Given the description of an element on the screen output the (x, y) to click on. 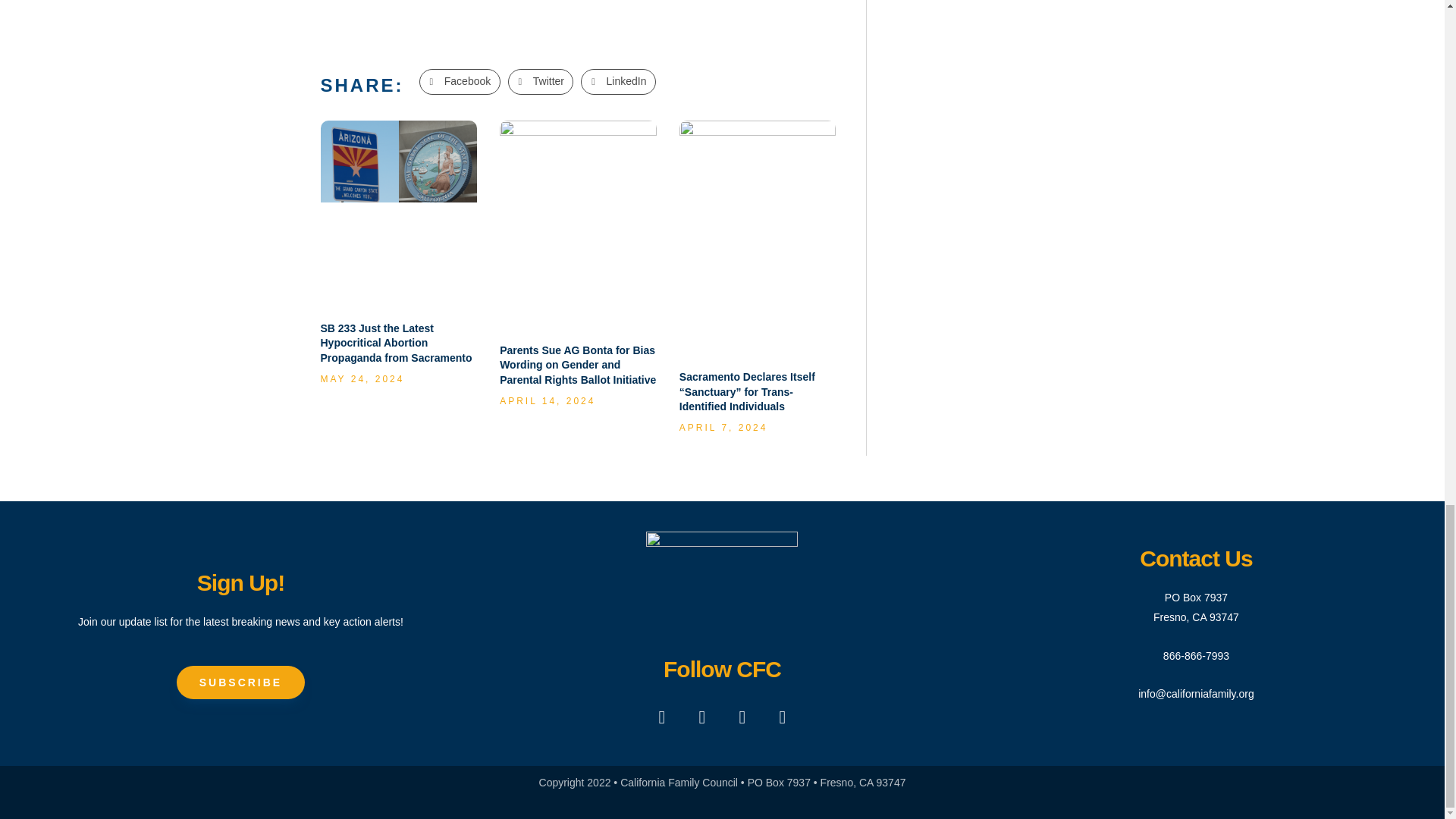
bonta - California Family Council (577, 172)
